Given the description of an element on the screen output the (x, y) to click on. 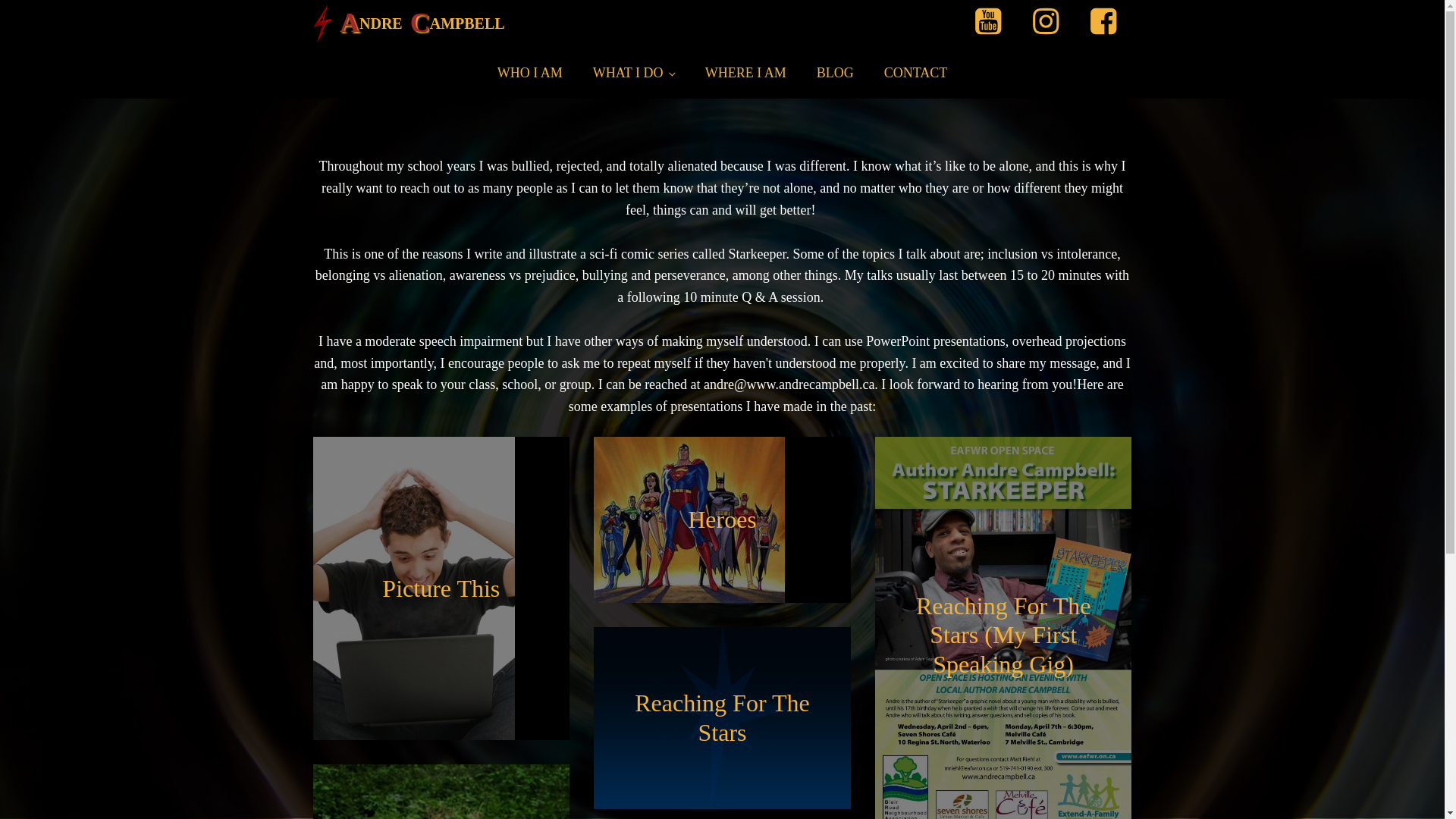
BLOG Element type: text (835, 73)
Heroes Element type: text (721, 519)
WHERE I AM Element type: text (745, 73)
Picture This Element type: text (440, 588)
WHO I AM Element type: text (529, 73)
WHAT I DO Element type: text (633, 73)
CONTACT Element type: text (916, 73)
A
NDRE
C
AMPBELL Element type: text (408, 23)
Reaching For The Stars Element type: text (721, 718)
